Given the description of an element on the screen output the (x, y) to click on. 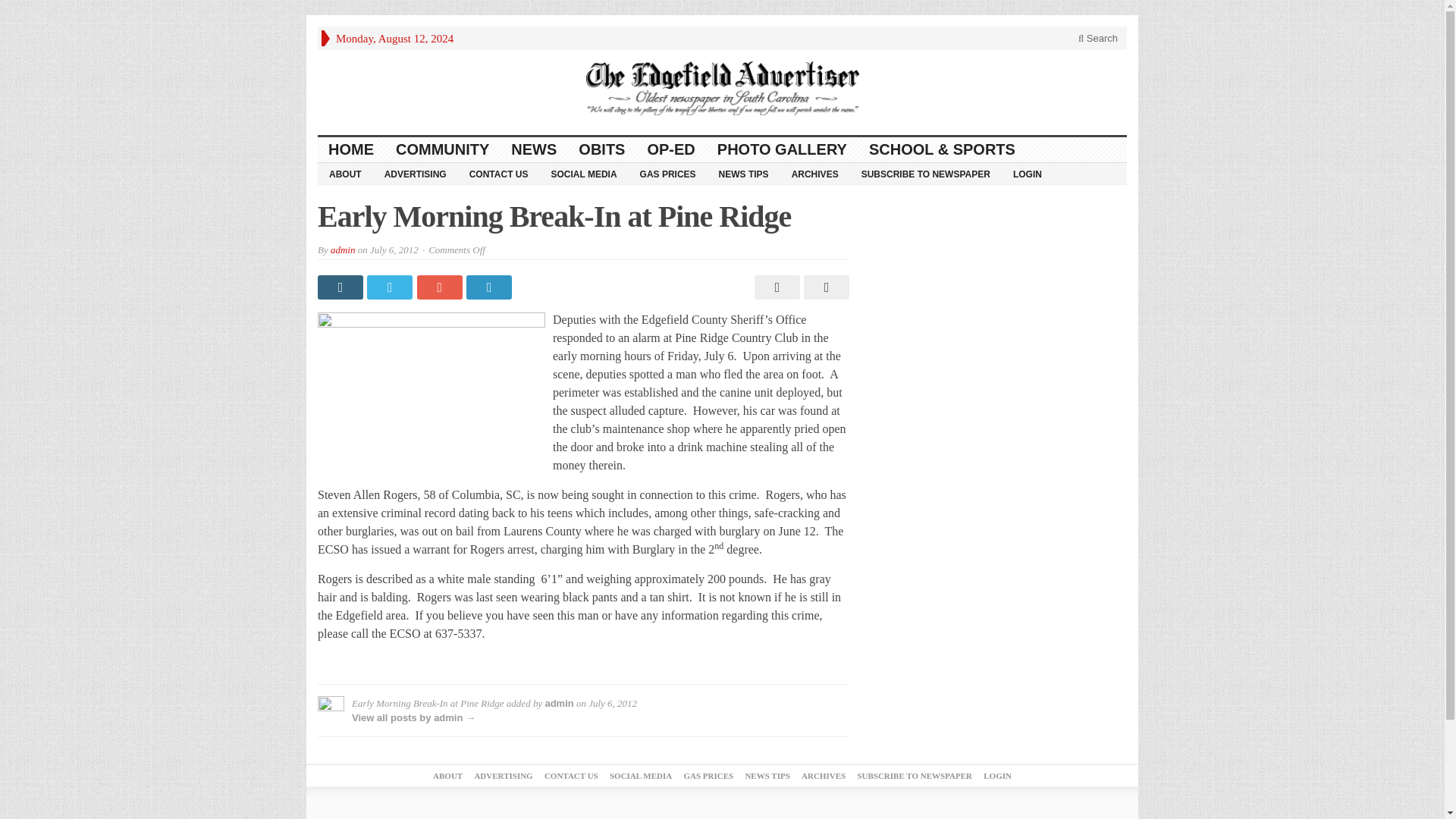
LOGIN (1026, 173)
SOCIAL MEDIA (640, 775)
GAS PRICES (667, 173)
admin (558, 703)
Share on LinkedIn (490, 287)
ABOUT (344, 173)
CONTACT US (571, 775)
COMMUNITY (442, 149)
PHOTO GALLERY (782, 149)
SUBSCRIBE TO NEWSPAPER (925, 173)
